Given the description of an element on the screen output the (x, y) to click on. 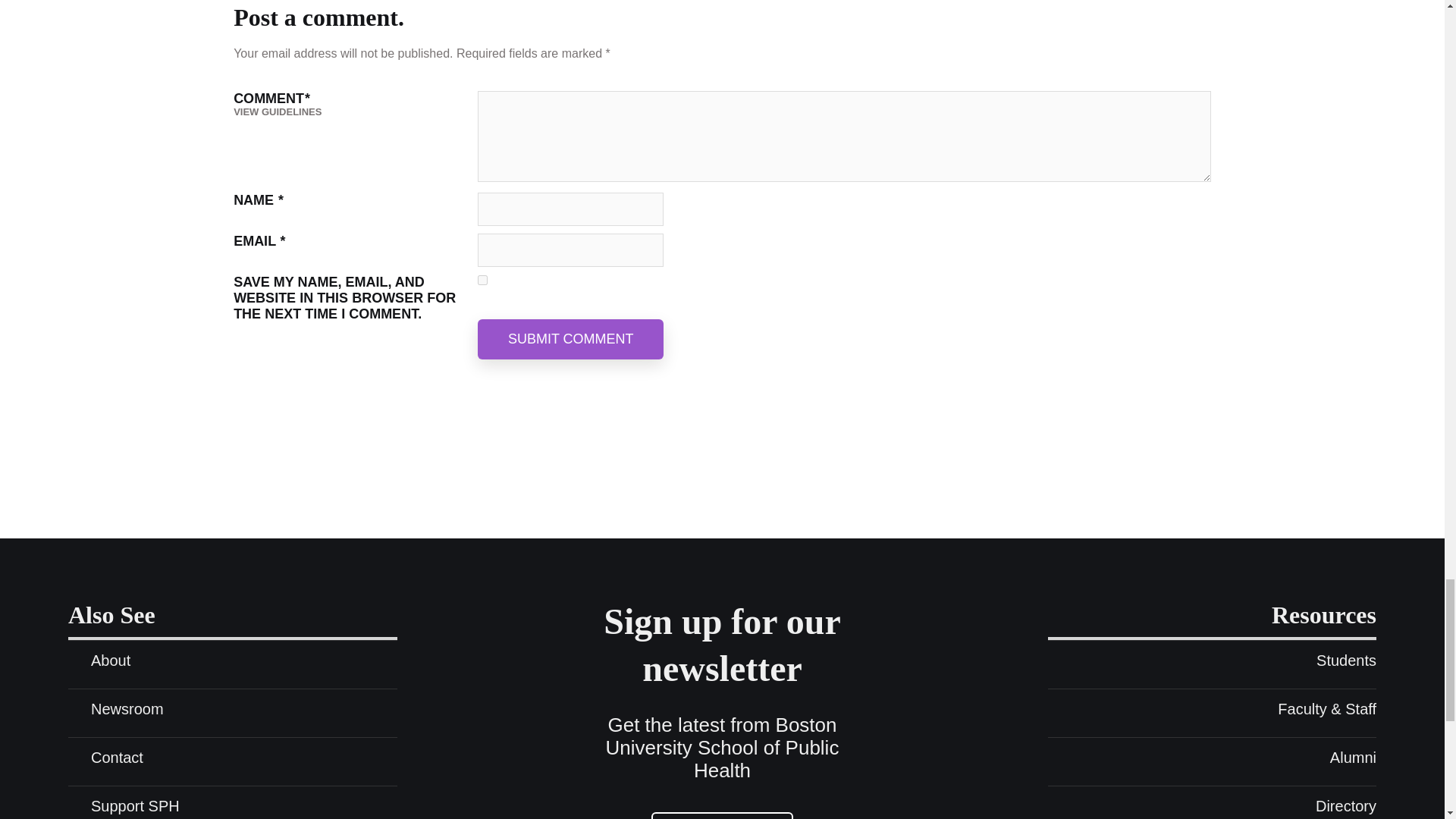
yes (482, 280)
